Given the description of an element on the screen output the (x, y) to click on. 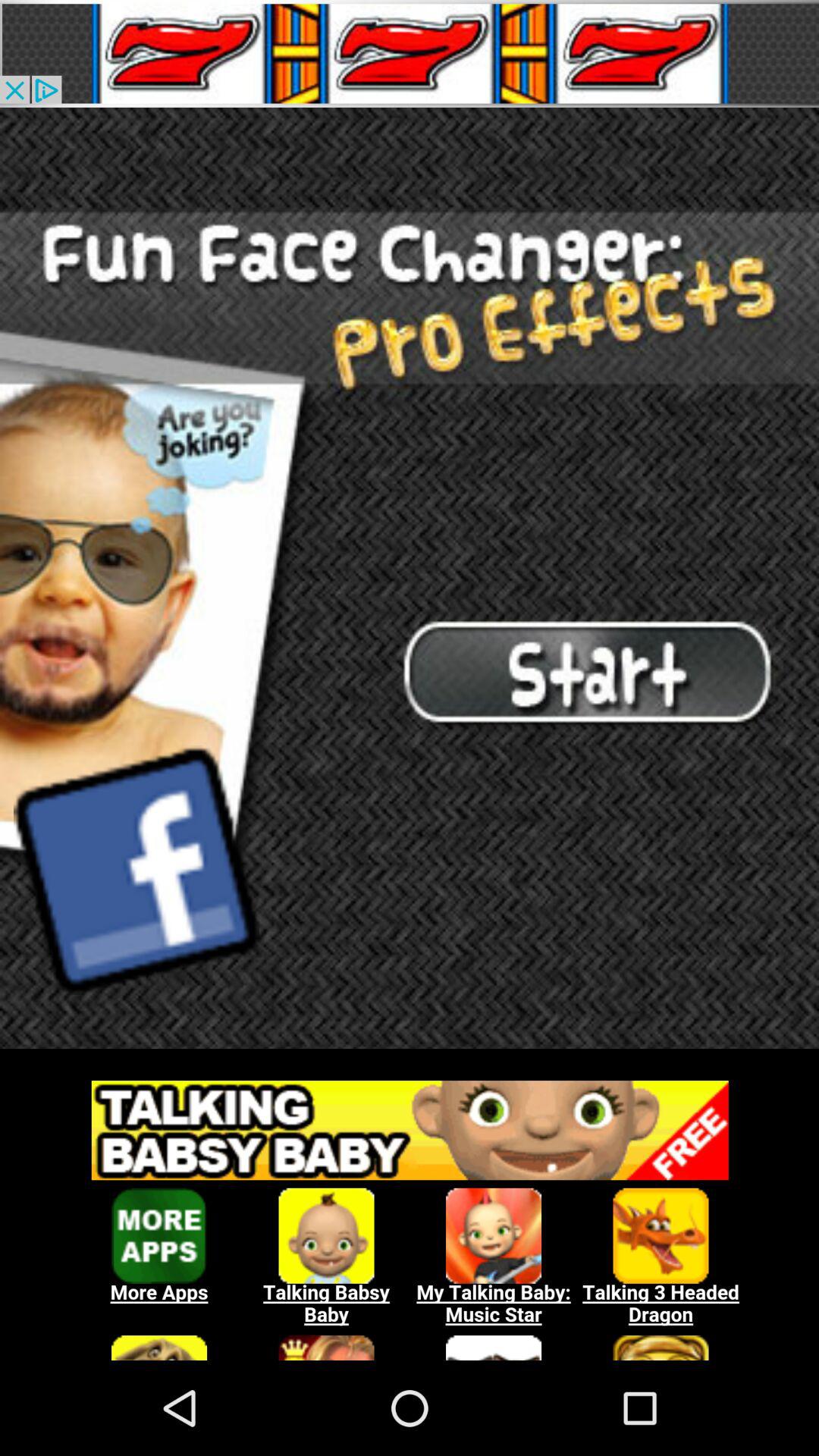
facebook design (136, 869)
